Given the description of an element on the screen output the (x, y) to click on. 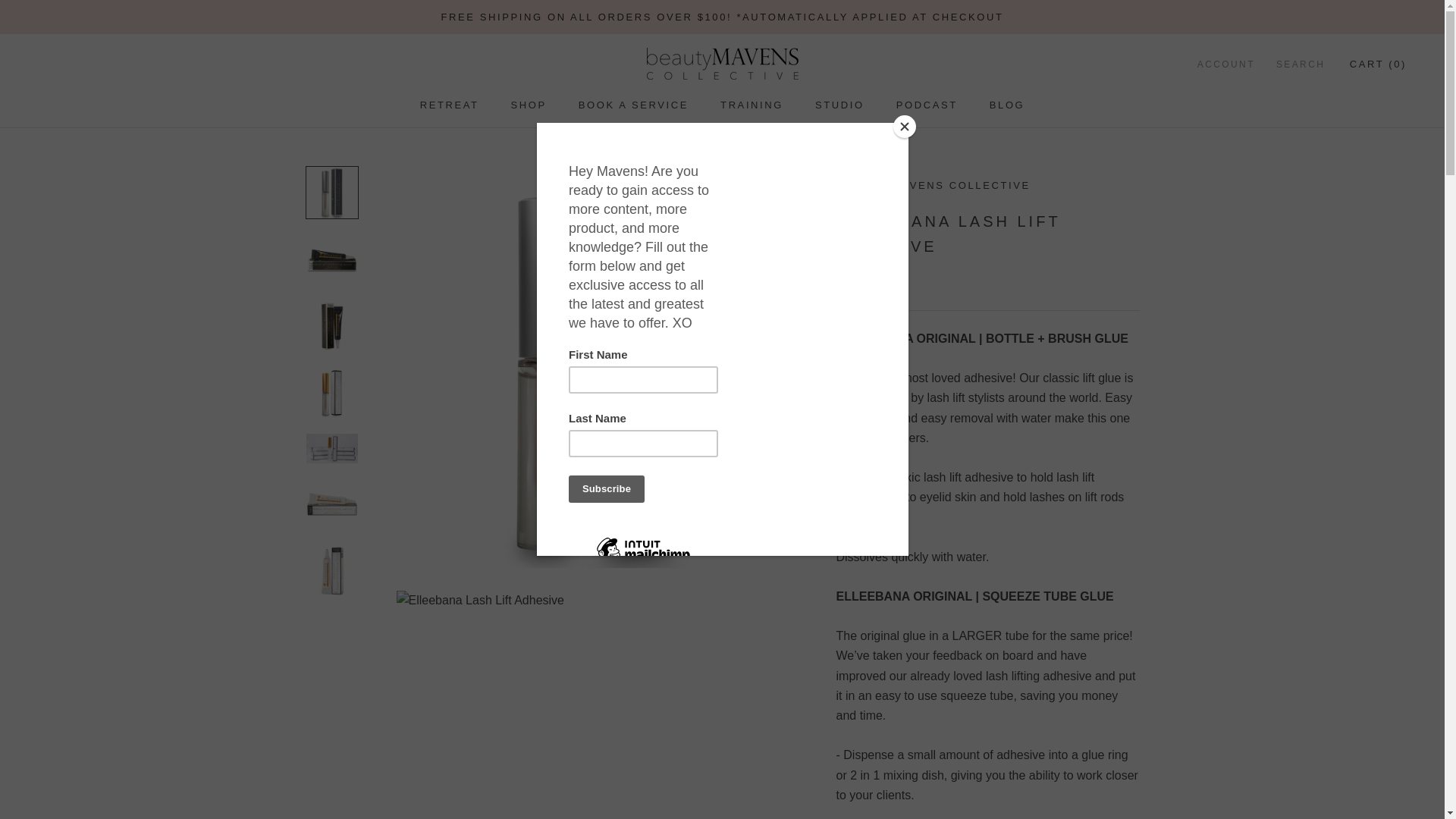
SHOP (449, 104)
